Given the description of an element on the screen output the (x, y) to click on. 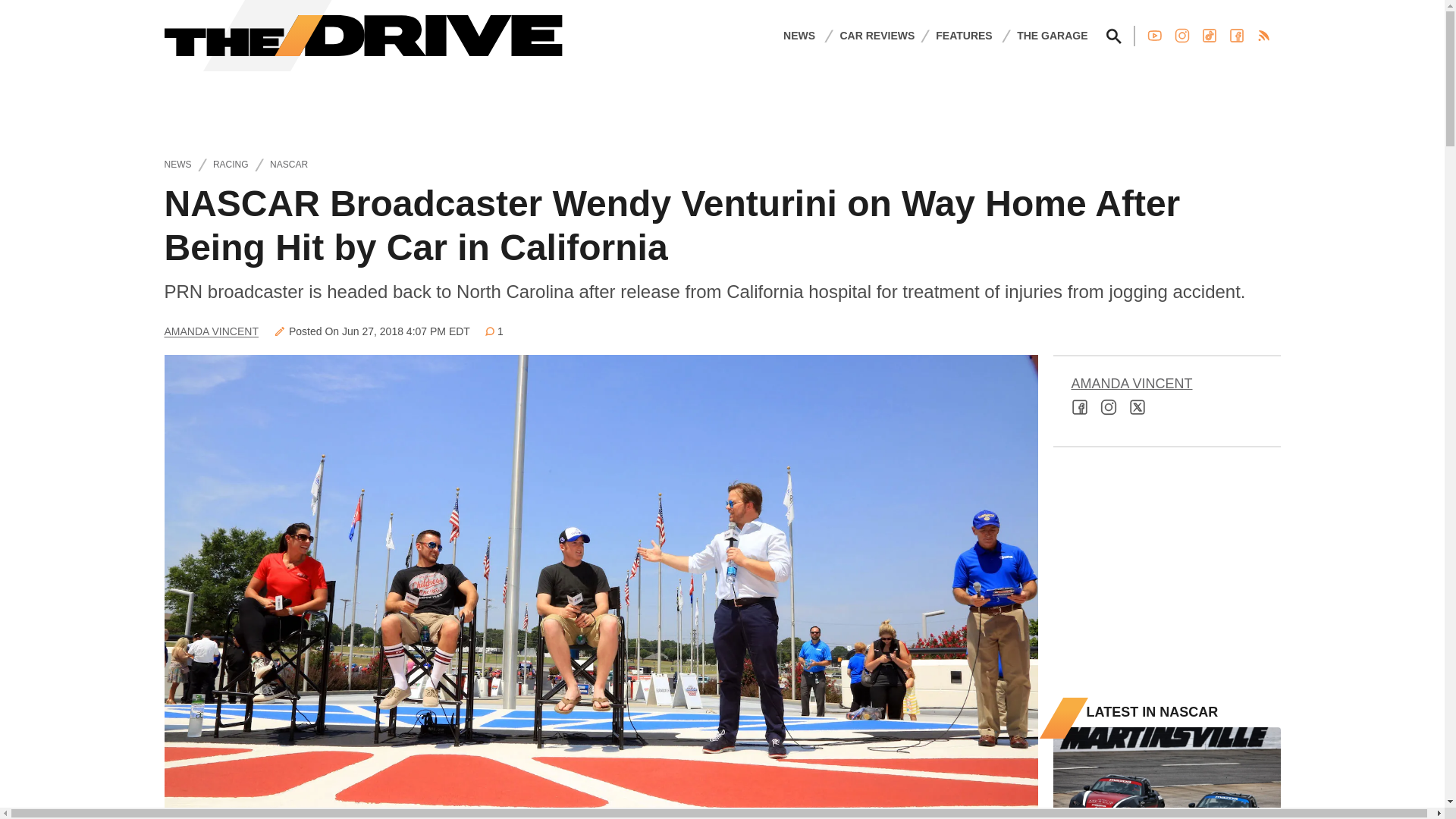
3rd party ad content (721, 105)
3rd party ad content (1165, 572)
NEWS (799, 34)
